Given the description of an element on the screen output the (x, y) to click on. 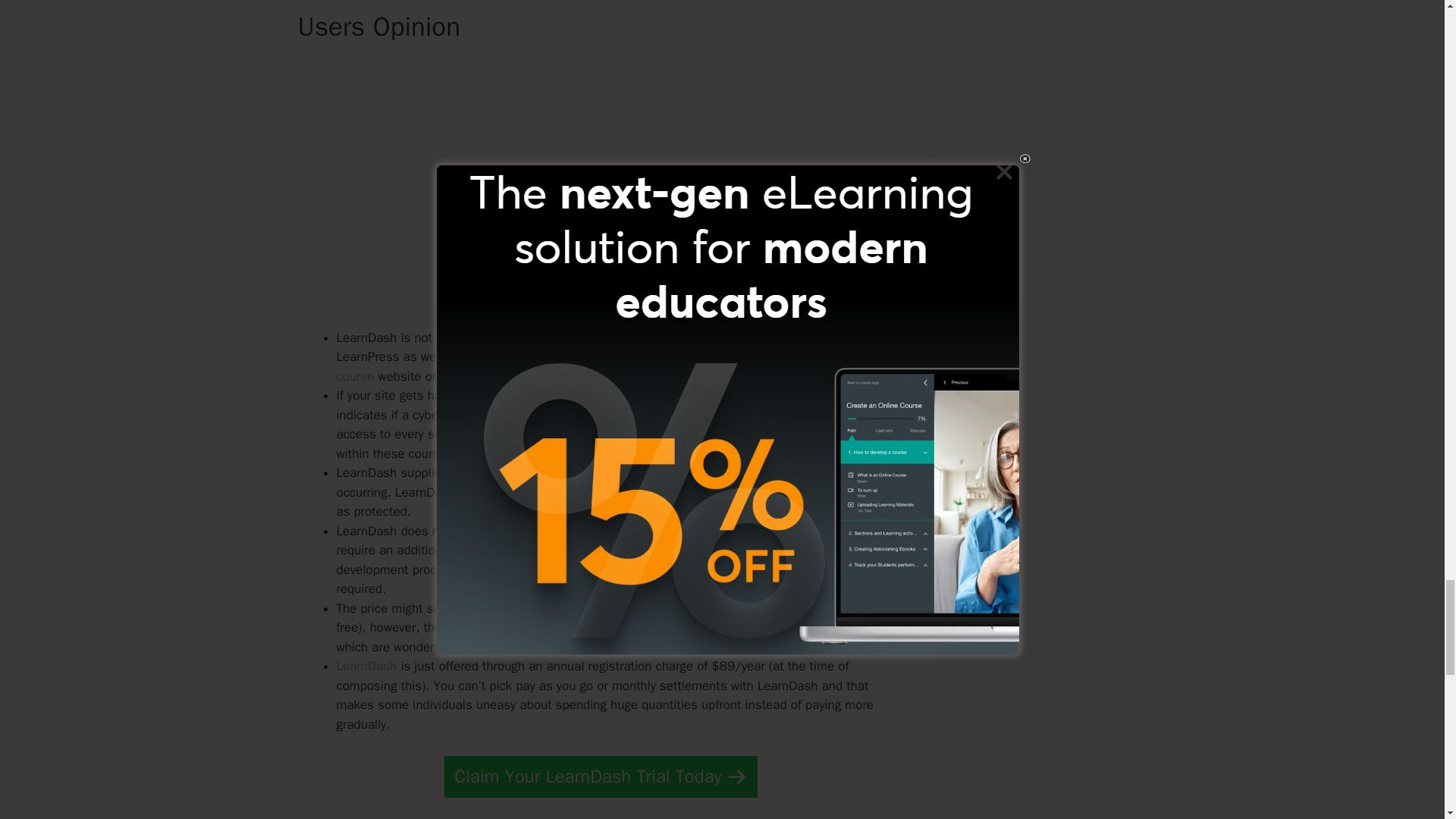
online course (619, 366)
WordPress LMS (528, 337)
Claim Your LearnDash Trial Today (600, 776)
LearnDash (366, 666)
